Given the description of an element on the screen output the (x, y) to click on. 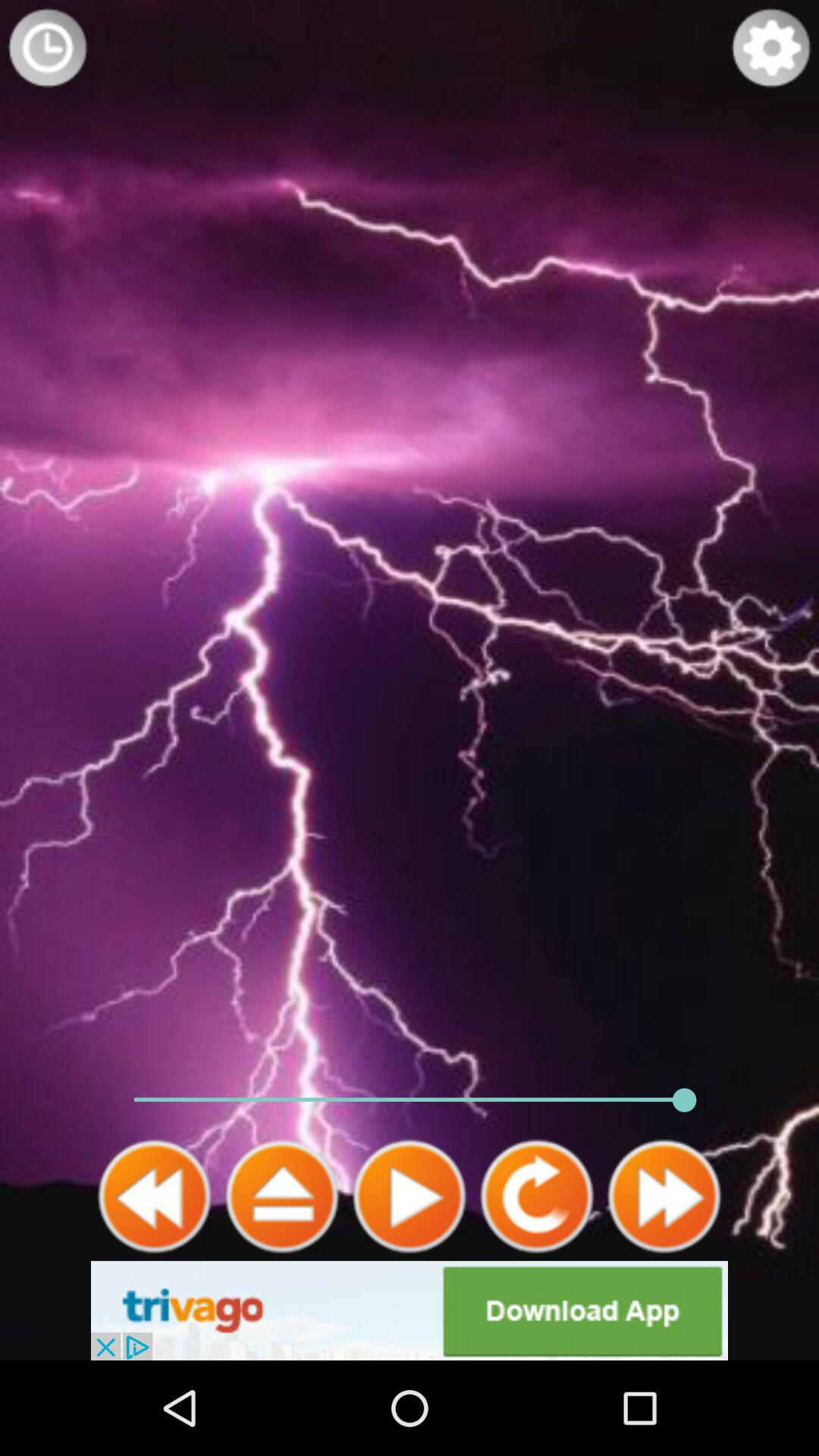
play next (664, 1196)
